Given the description of an element on the screen output the (x, y) to click on. 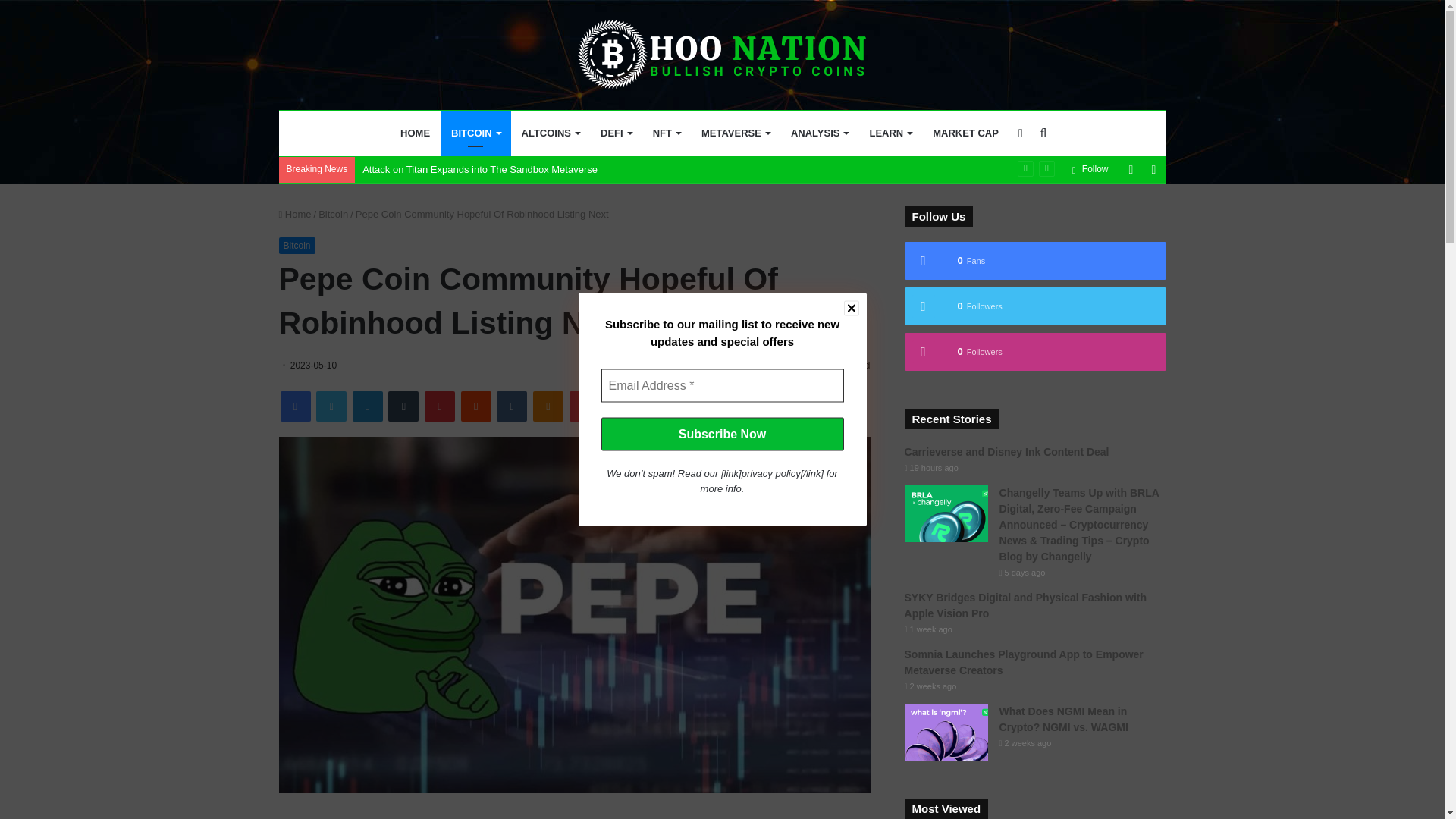
Bitcoin (332, 214)
Tumblr (403, 406)
Reddit (476, 406)
Pinterest (439, 406)
Subscribe Now (721, 433)
DEFI (615, 133)
MARKET CAP (965, 133)
Reddit (476, 406)
LinkedIn (367, 406)
VKontakte (511, 406)
HOME (415, 133)
Follow (1090, 169)
Facebook (296, 406)
Print (619, 406)
NFT (666, 133)
